Given the description of an element on the screen output the (x, y) to click on. 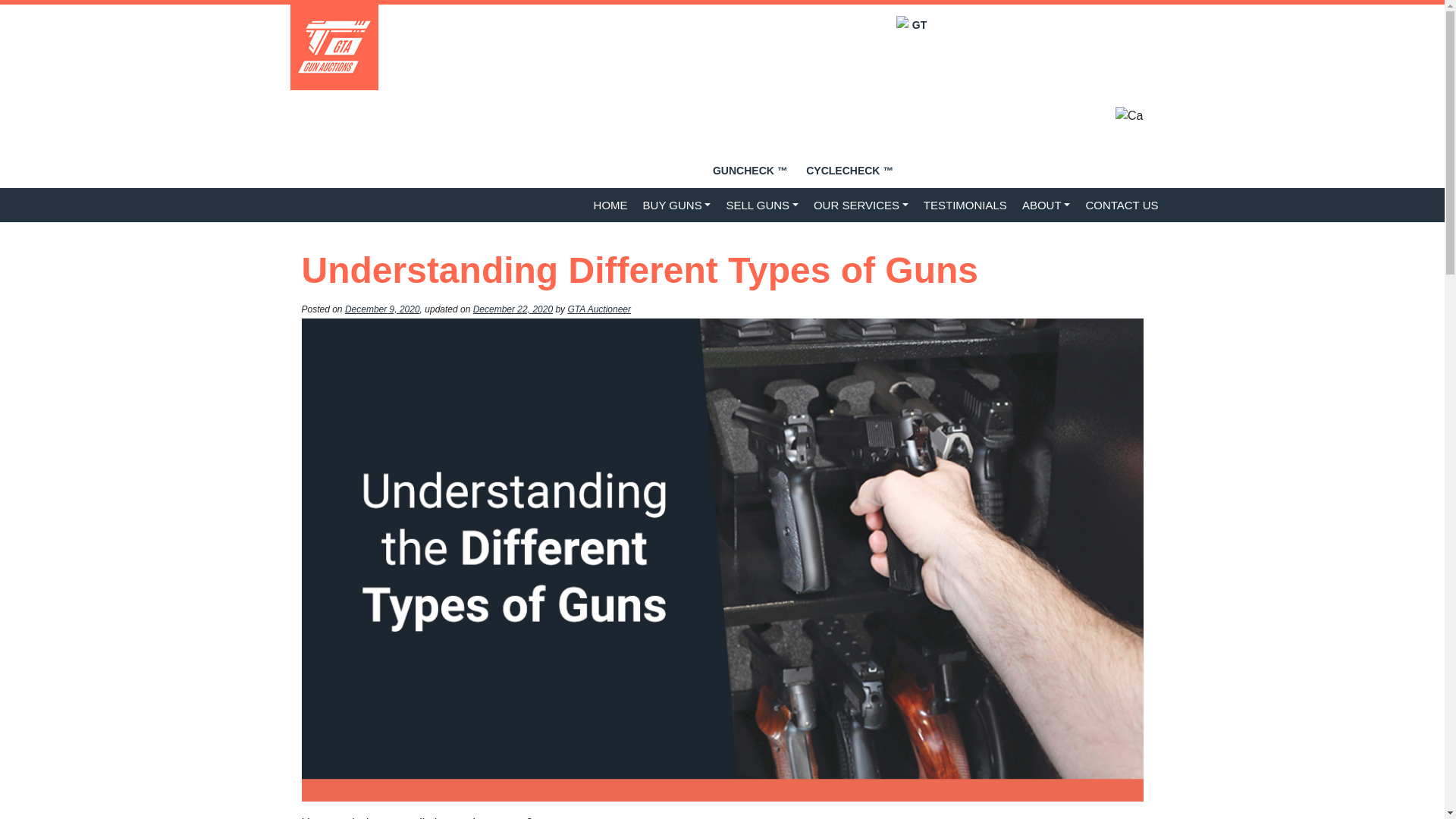
BUY GUNS (676, 204)
SELL GUNS (761, 204)
OUR SERVICES (860, 204)
cyclecheck link (866, 97)
ABOUT (1046, 204)
Youtube link (971, 163)
CONTACT US (1121, 204)
HOME (610, 204)
December 9, 2020 (382, 308)
GTA Auctioneer (598, 308)
guncheck link (750, 170)
Our Services (860, 204)
Buy Guns (676, 204)
Twitter link (1037, 163)
Facebook link (1003, 163)
